Given the description of an element on the screen output the (x, y) to click on. 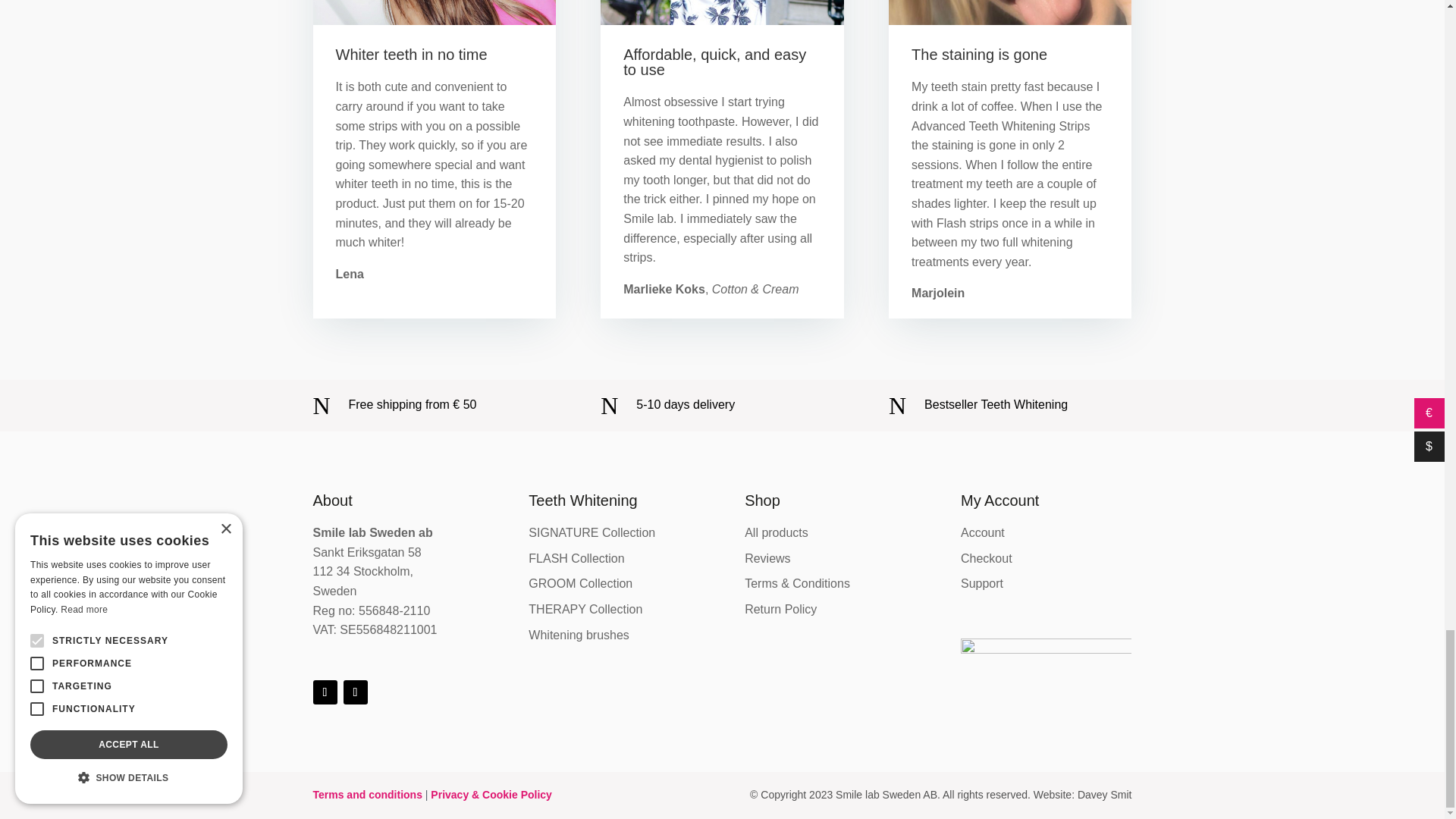
image (1009, 12)
image (433, 12)
Follow on Facebook (324, 692)
smilelab-payment-logos (1045, 674)
Follow on Instagram (354, 692)
image (721, 12)
